Given the description of an element on the screen output the (x, y) to click on. 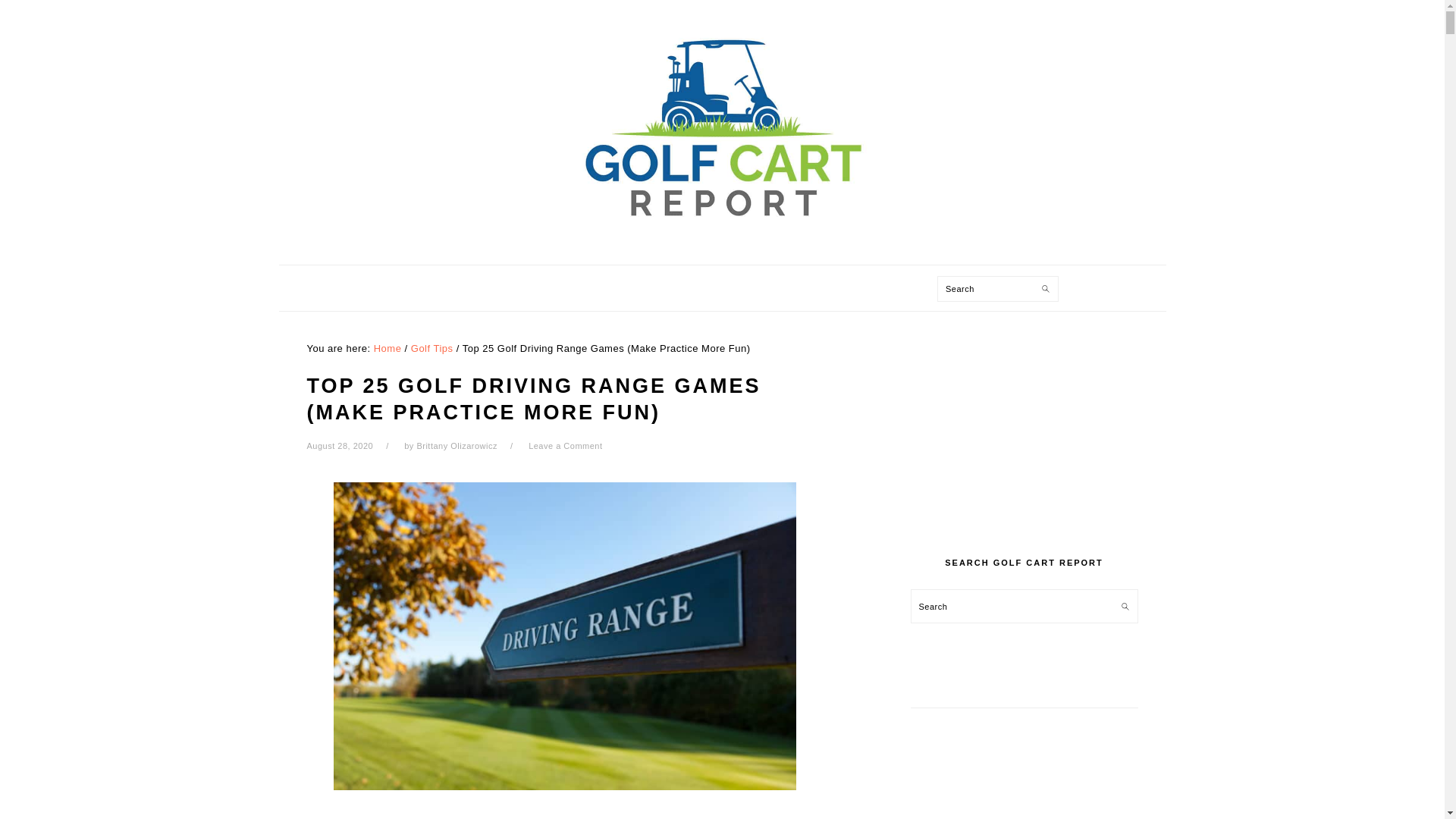
Brittany Olizarowicz (456, 445)
BEGINNER INFO (638, 288)
FIND A DEALER (761, 288)
Golf Tips (431, 348)
Leave a Comment (565, 445)
Home (387, 348)
